Given the description of an element on the screen output the (x, y) to click on. 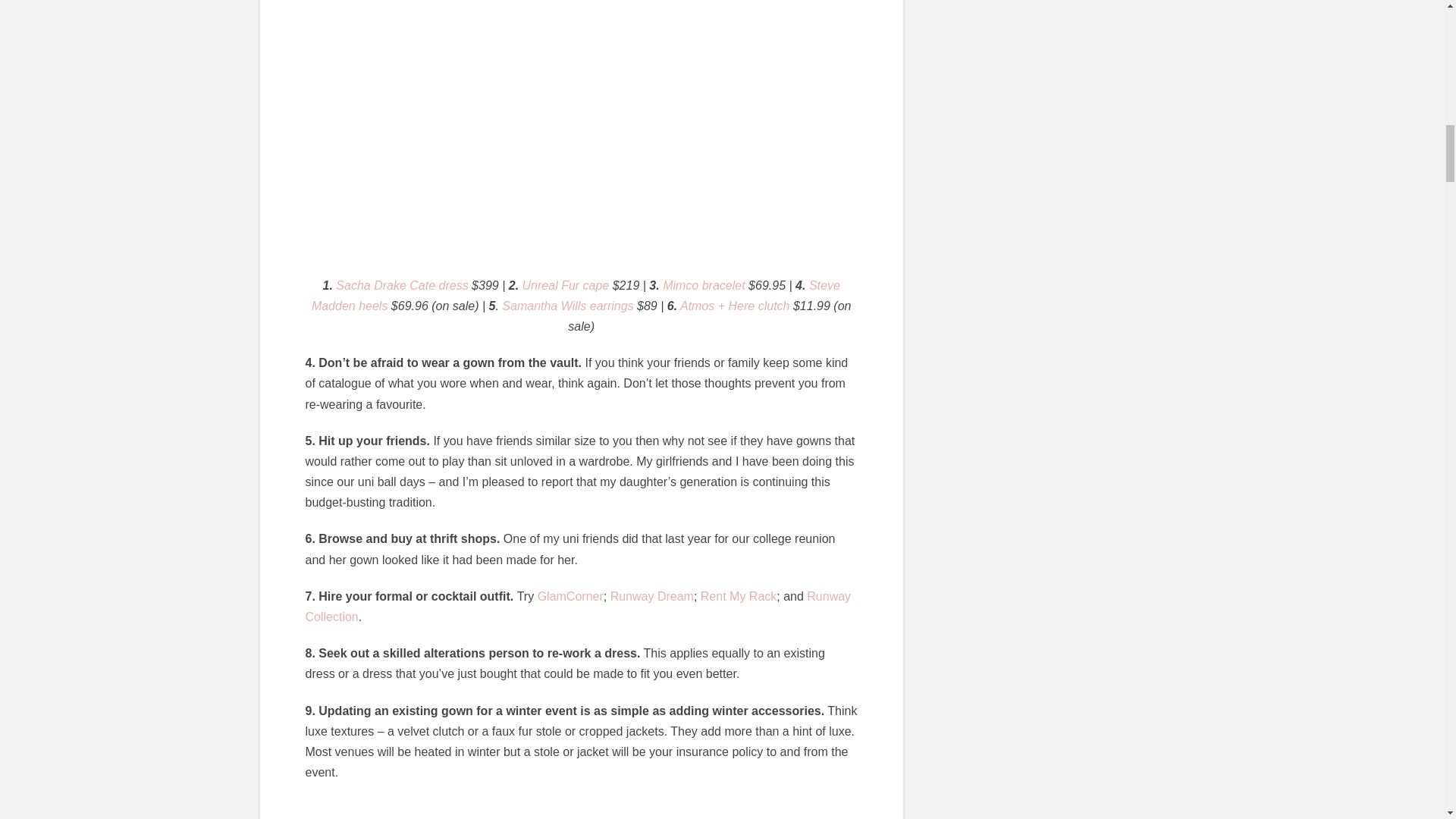
Sacha Drake Cate dress (401, 285)
Unreal Fur cape (566, 285)
Mimco bracelet (703, 285)
Steve Madden heels (575, 295)
